Given the description of an element on the screen output the (x, y) to click on. 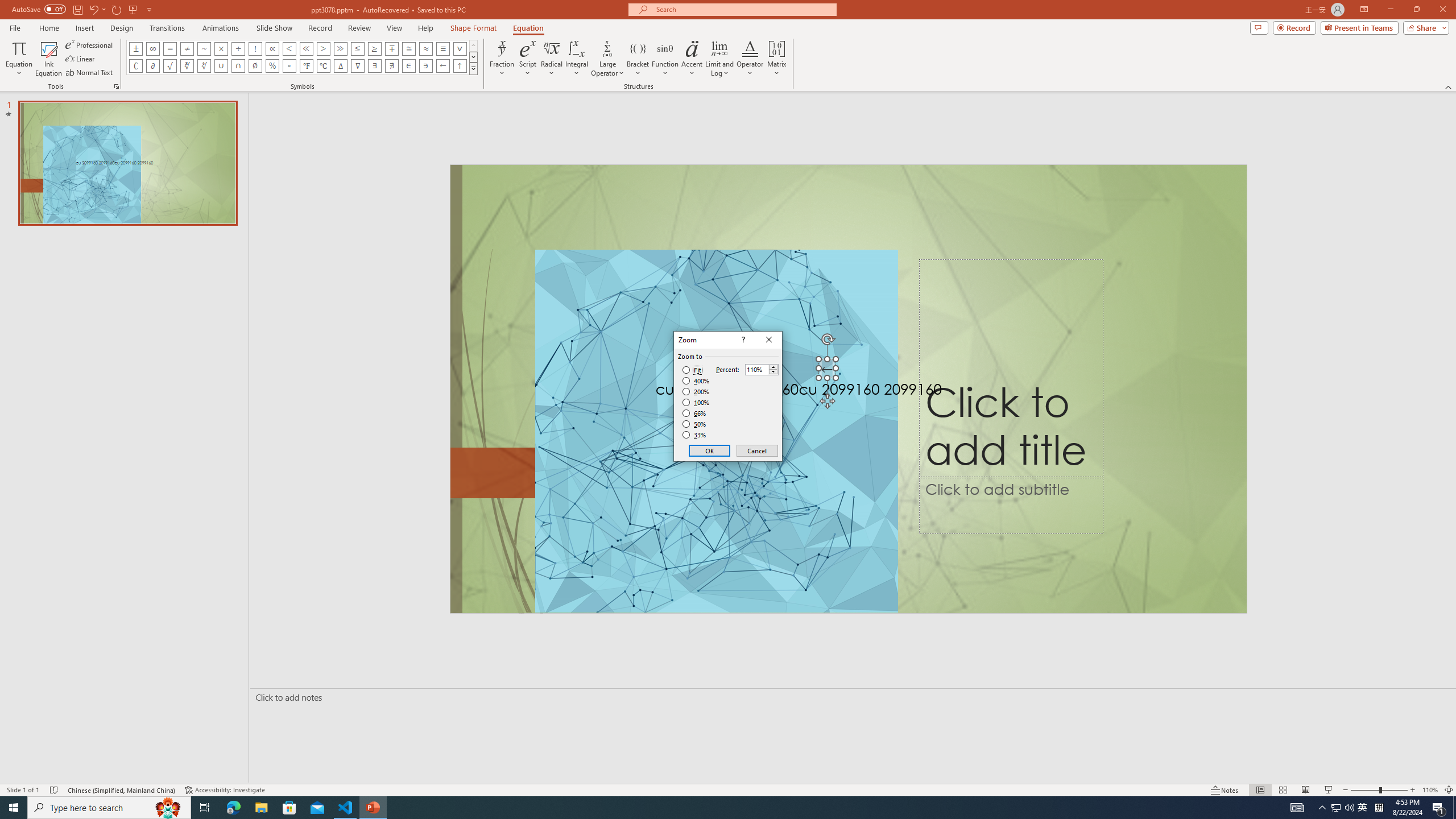
Shape Format (473, 28)
Context help (742, 339)
Equation Symbol There Does Not Exist (391, 65)
Equation Symbol Approximately (203, 48)
Equation (528, 28)
Equation Symbol Almost Equal To (Asymptotic To) (425, 48)
Equation Symbol Approximately Equal To (408, 48)
